Given the description of an element on the screen output the (x, y) to click on. 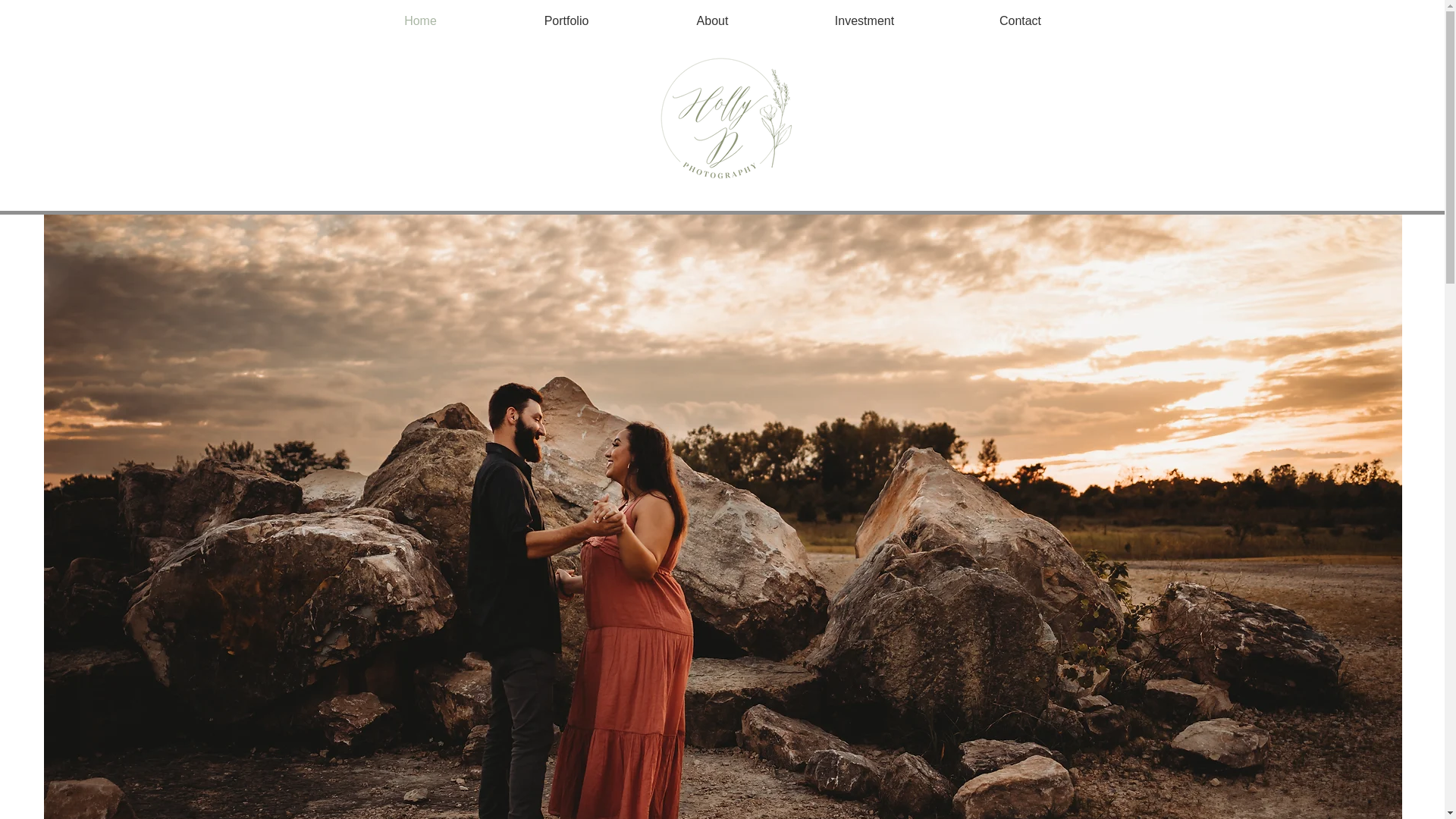
Portfolio (565, 20)
Contact (1019, 20)
Investment (865, 20)
Home (419, 20)
About (713, 20)
